Given the description of an element on the screen output the (x, y) to click on. 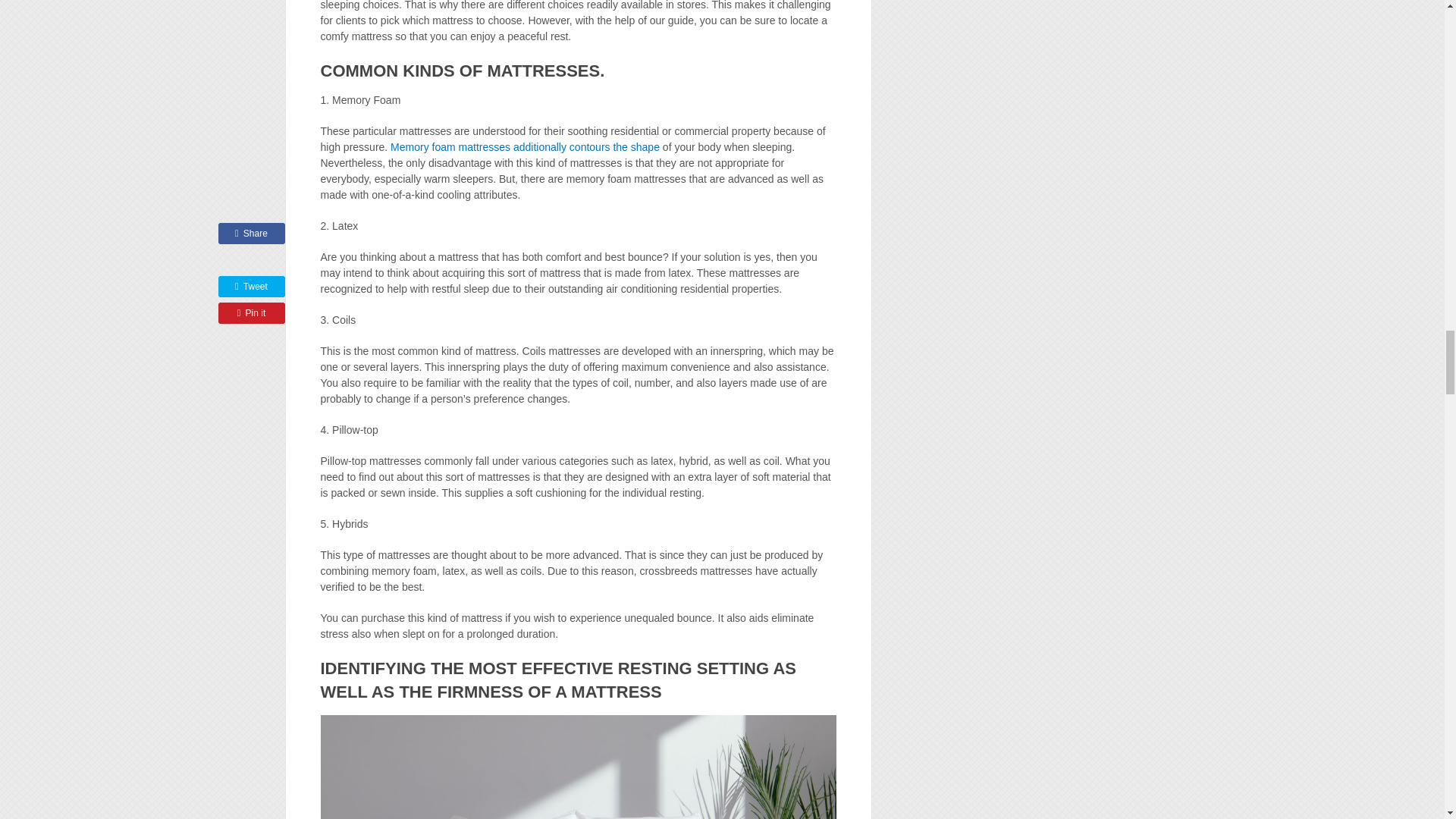
Memory foam mattresses additionally contours the shape (524, 146)
